Given the description of an element on the screen output the (x, y) to click on. 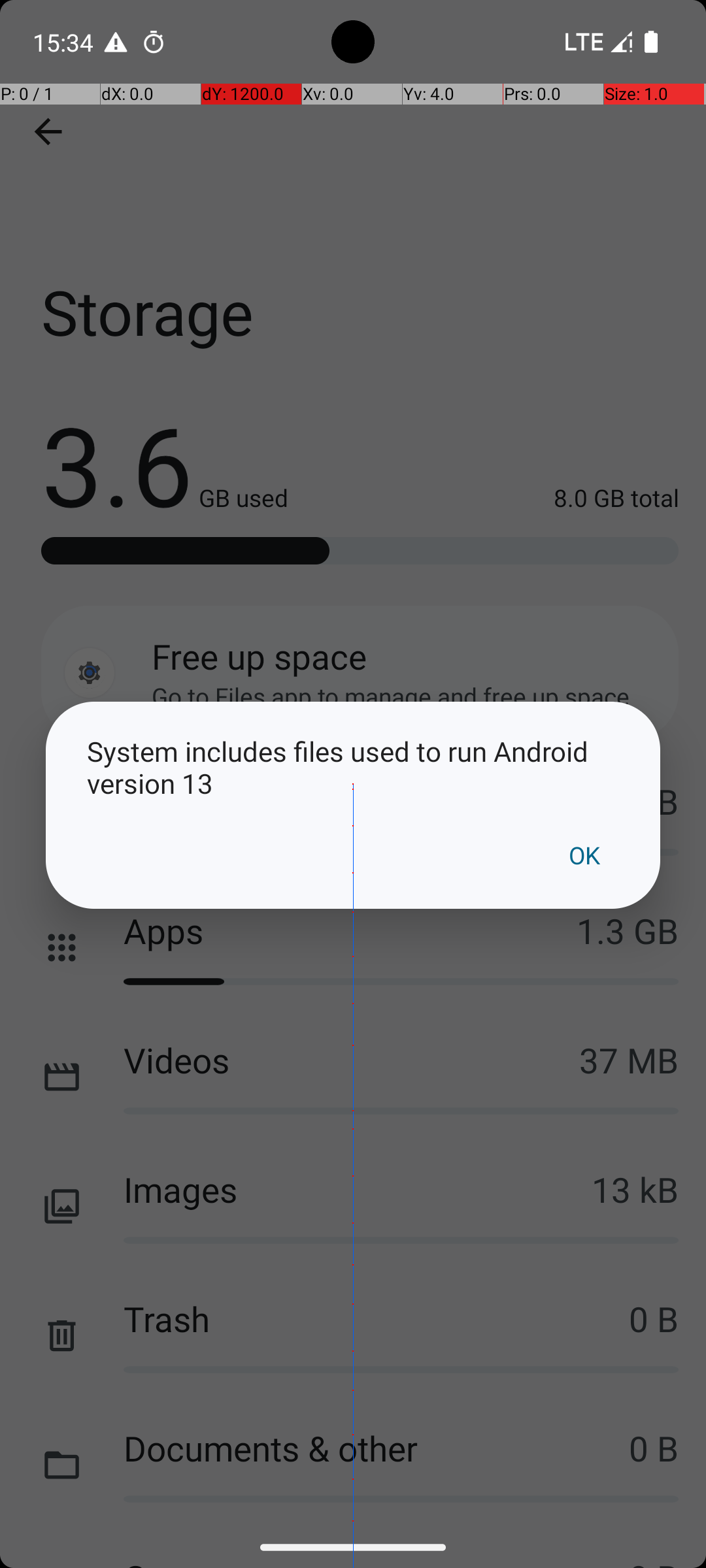
System includes files used to run Android version 13 Element type: android.widget.TextView (352, 766)
